Given the description of an element on the screen output the (x, y) to click on. 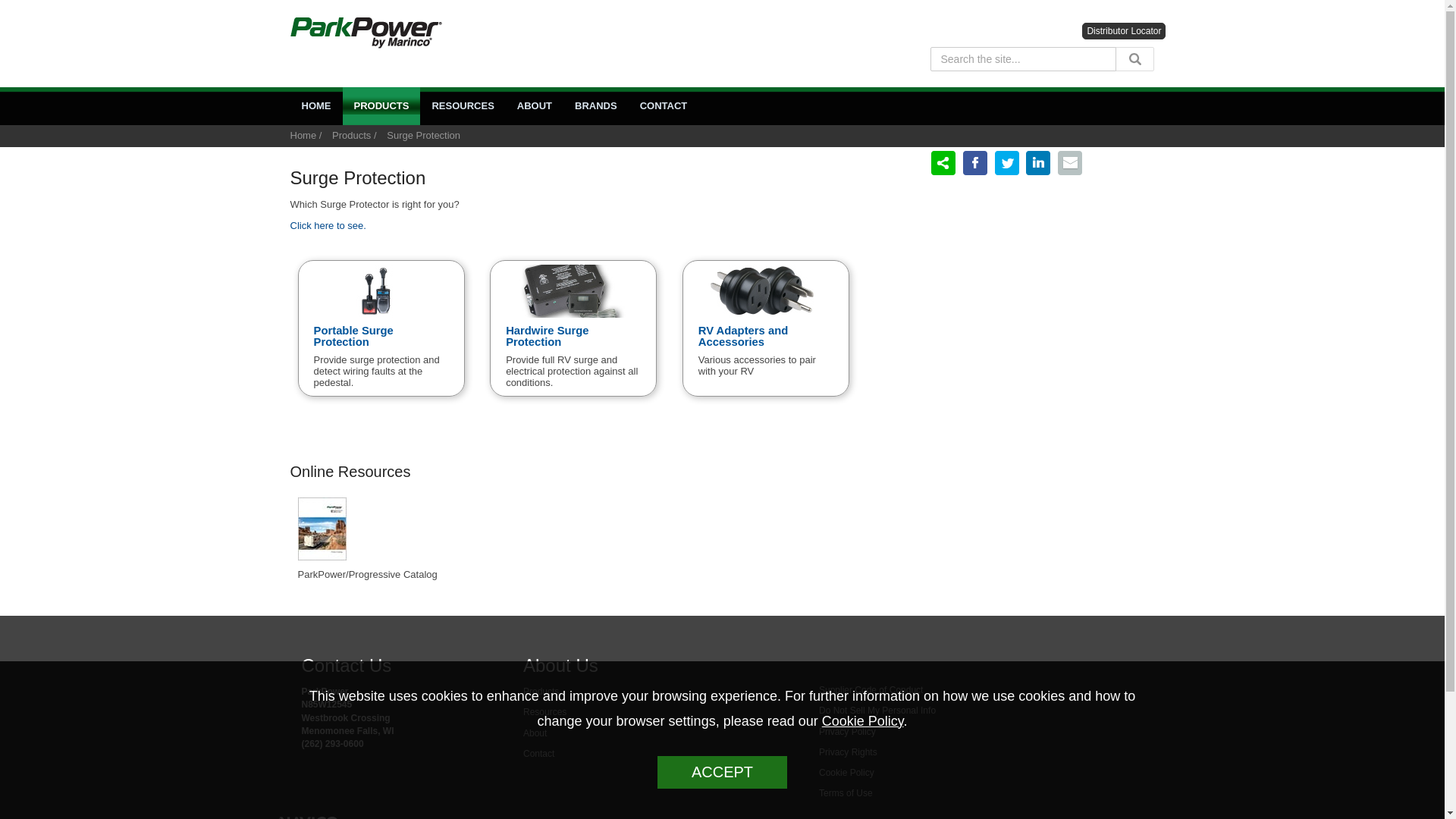
Cookie Policy (846, 772)
Click here to see. (327, 225)
CONTACT (663, 105)
PRODUCTS (381, 105)
Do Not Sell My Personal Info (877, 710)
Privacy Rights (877, 710)
Privacy Rights (847, 751)
Resources (544, 711)
Home (302, 134)
Products (540, 691)
Terms of Use (845, 792)
About (534, 733)
Products (351, 134)
HOME (315, 105)
ABOUT (534, 105)
